Given the description of an element on the screen output the (x, y) to click on. 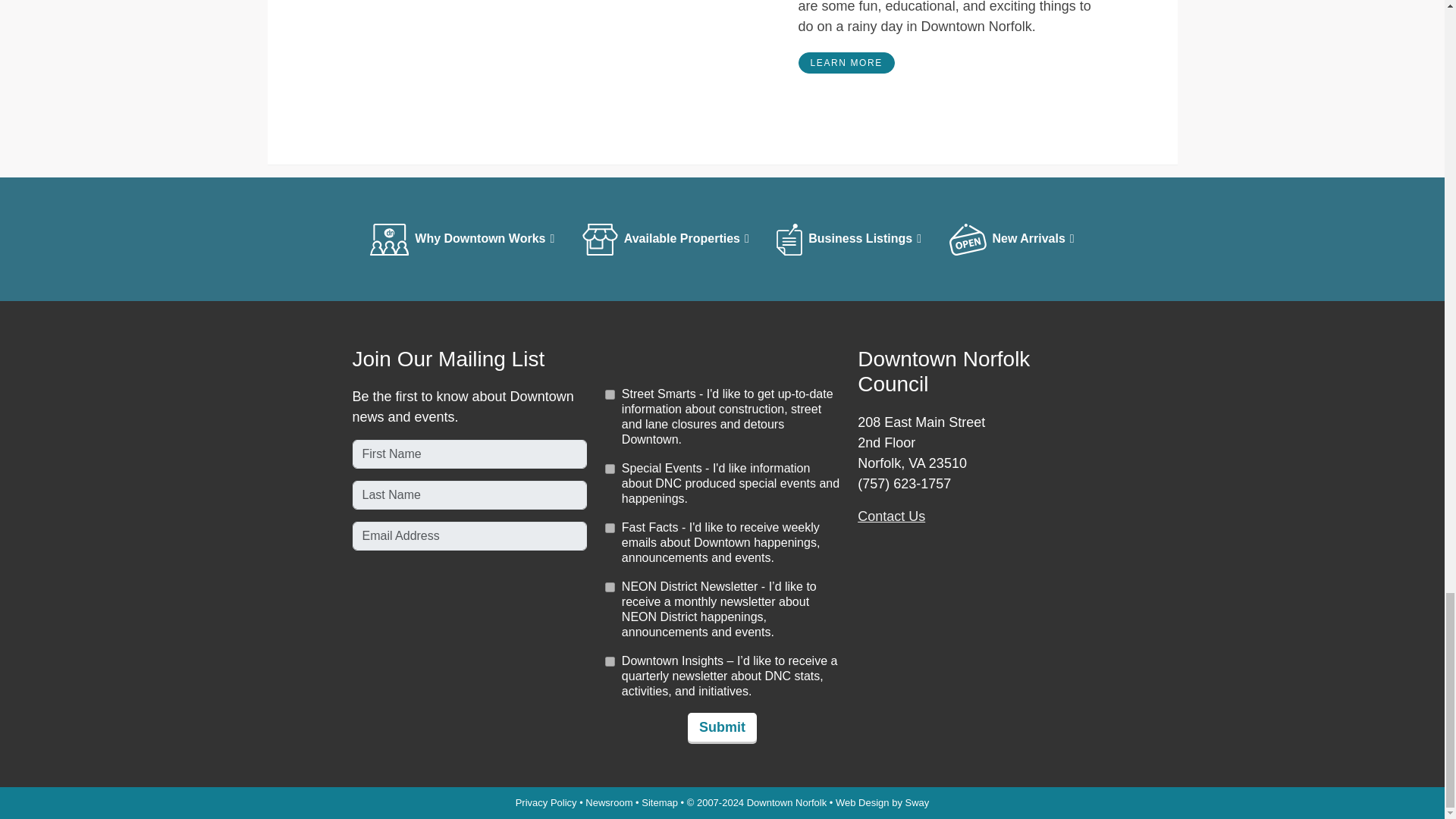
1 (609, 528)
1 (609, 394)
1 (609, 661)
1 (609, 469)
1 (609, 587)
Submit (722, 727)
